Given the description of an element on the screen output the (x, y) to click on. 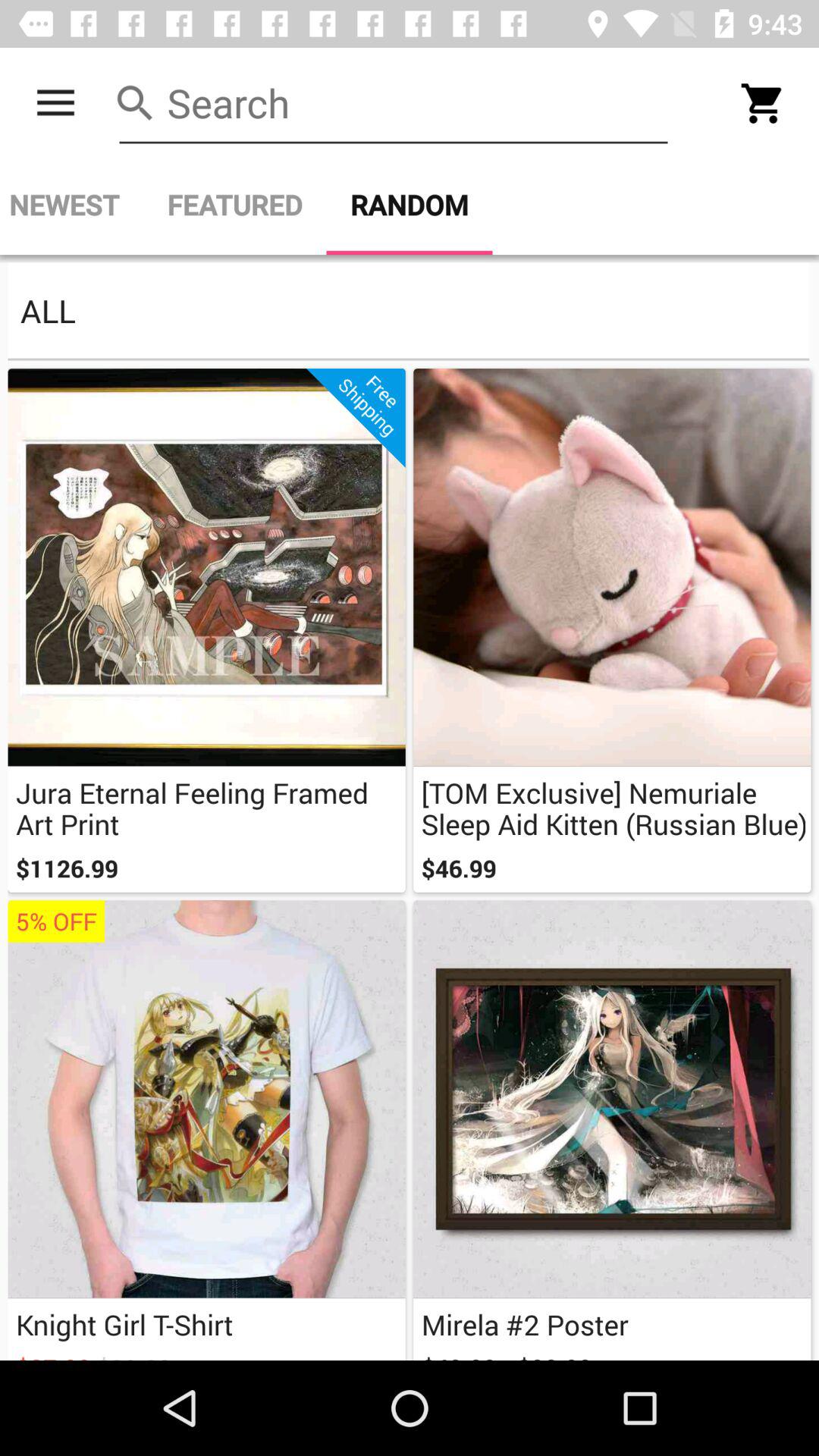
turn off the item to the left of the featured icon (71, 204)
